Given the description of an element on the screen output the (x, y) to click on. 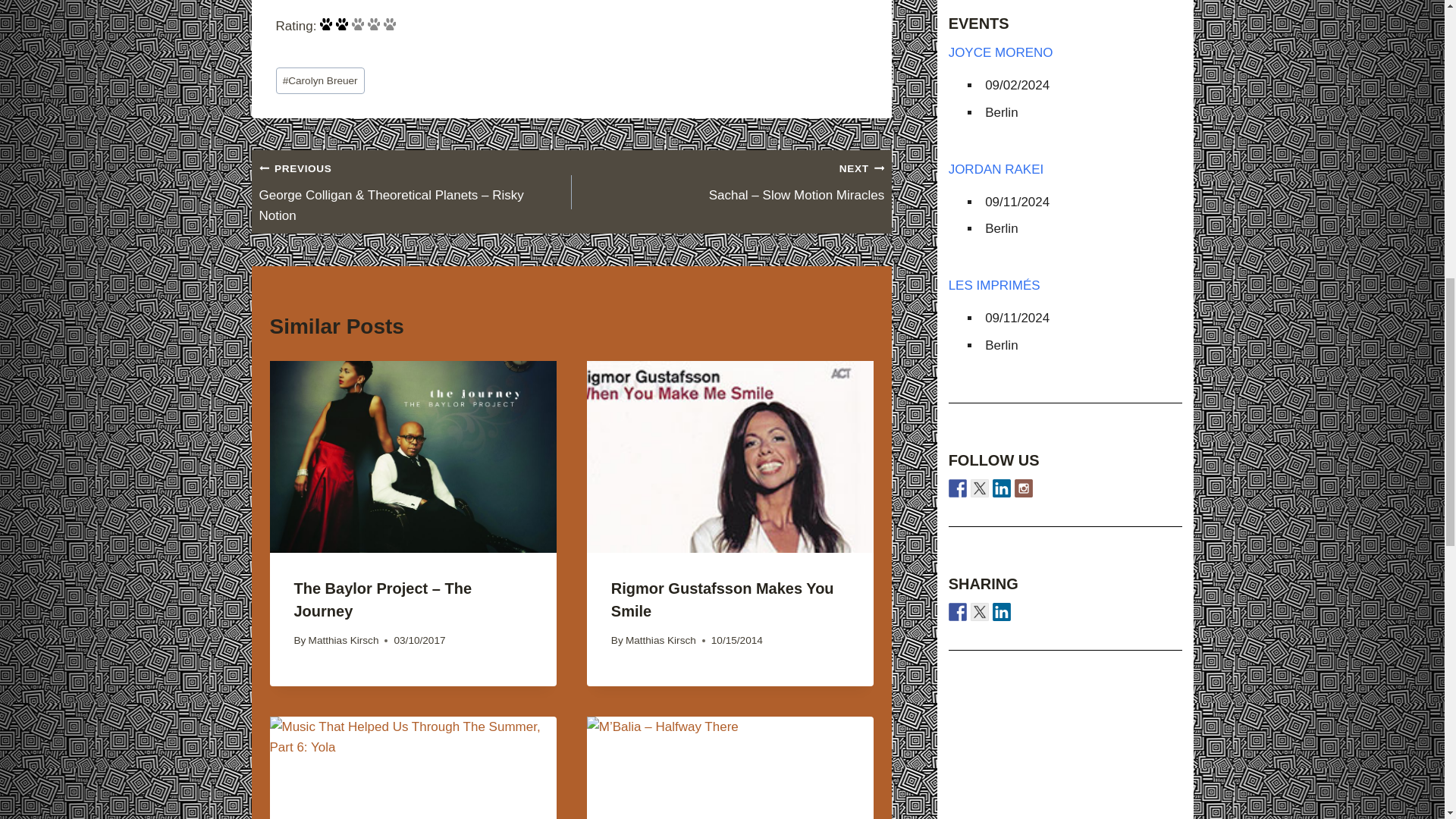
Matthias Kirsch (343, 640)
www.ginalovesjazz.com - the jazz magazine by matthias kirsch (957, 611)
Carolyn Breuer (320, 80)
Follow us (957, 488)
Matthias Kirsch (660, 640)
Follow us on Twitter (979, 488)
Find us on Linkedin (1001, 488)
Rigmor Gustafsson Makes You Smile (722, 599)
2 out of 5 stars (359, 25)
